Given the description of an element on the screen output the (x, y) to click on. 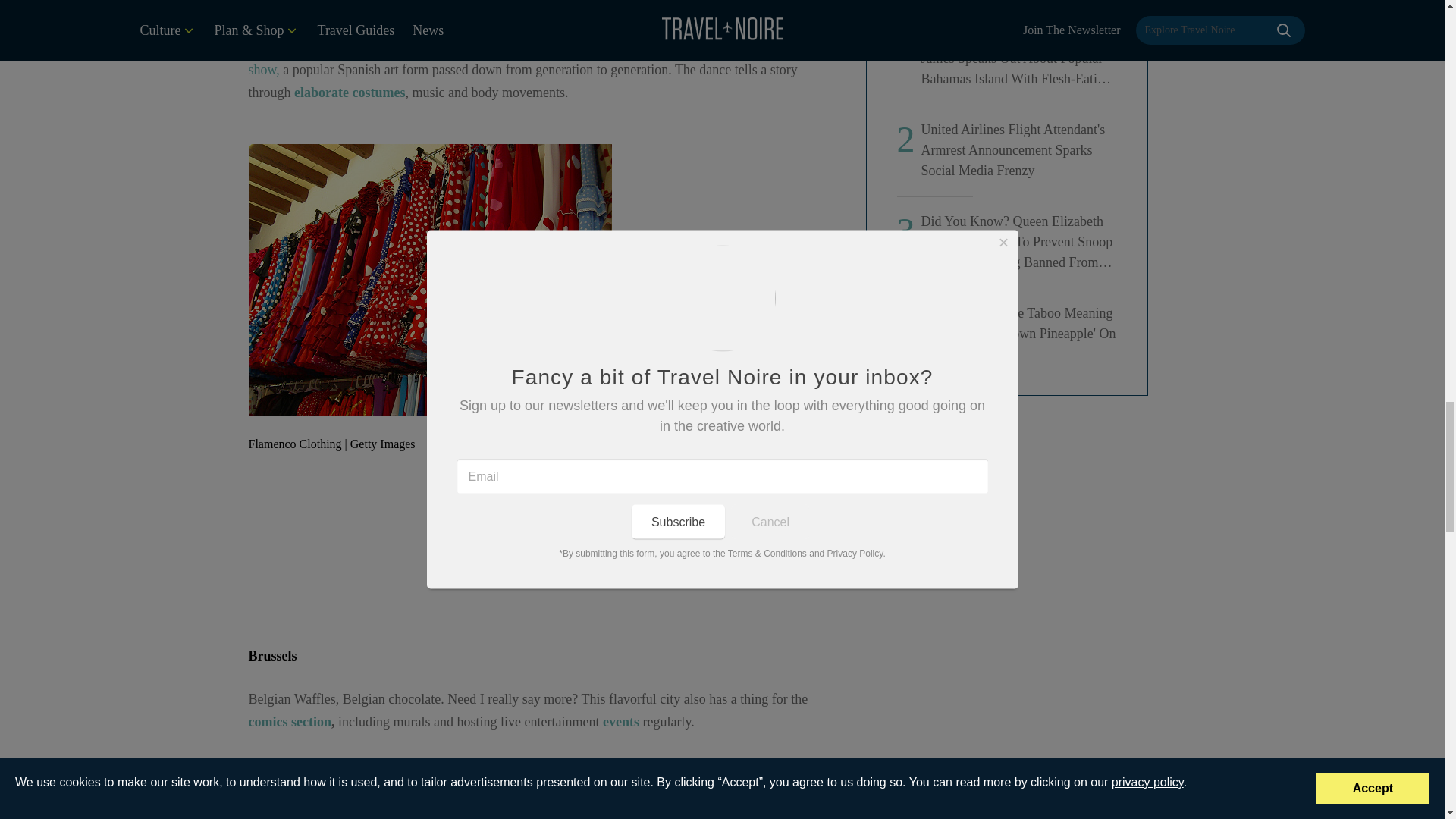
oldest inhabited city i (393, 23)
flamenco show,  (523, 57)
elaborate costumes (349, 92)
